Given the description of an element on the screen output the (x, y) to click on. 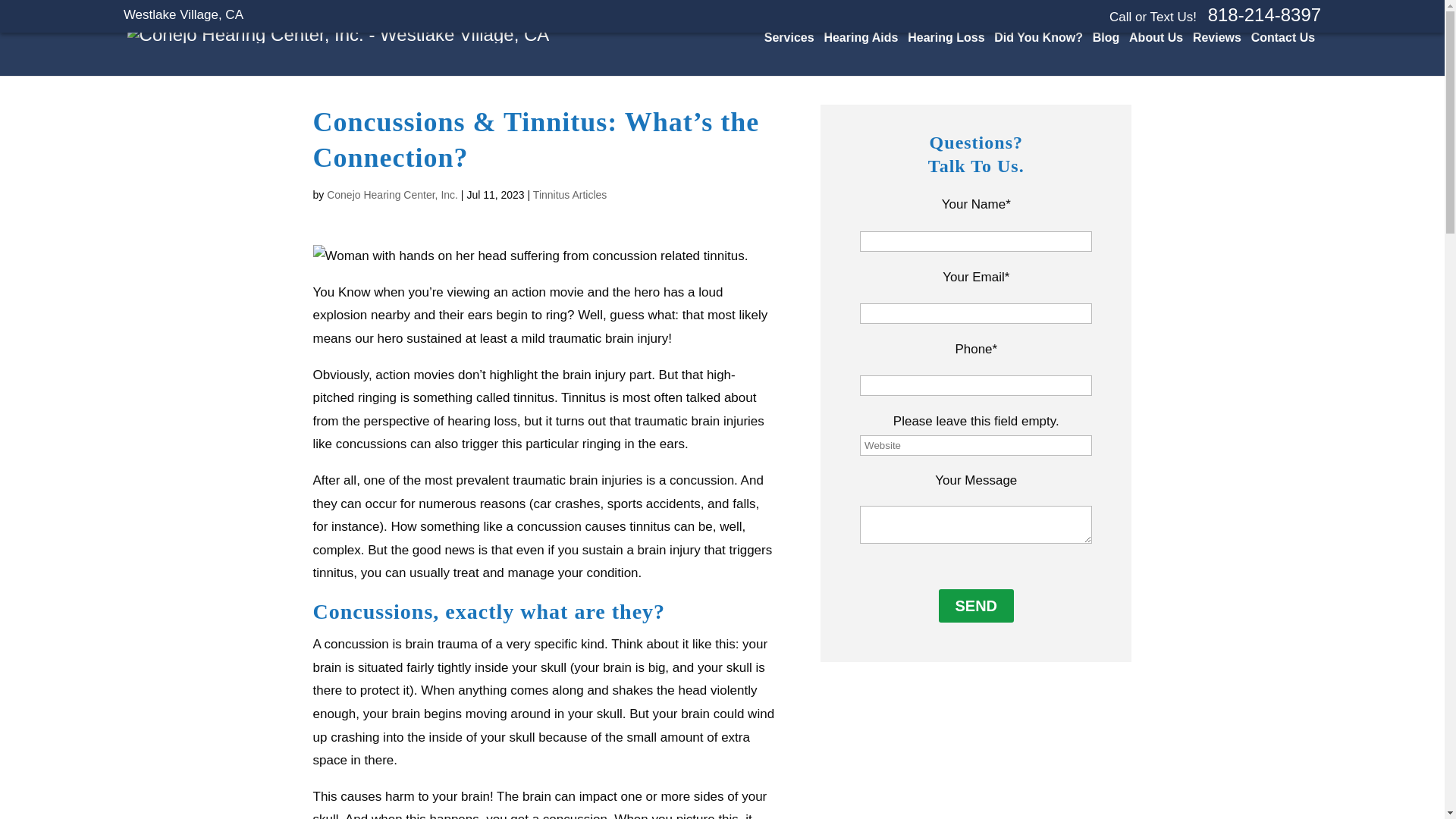
Blog (1106, 54)
Send (976, 605)
Conejo Hearing Center, Inc. (339, 34)
Hearing Aids (861, 44)
About Us (1155, 54)
818-214-8397 (1264, 14)
Did You Know? (1038, 44)
Reviews (1216, 54)
Westlake Village, CA (183, 14)
Hearing Loss (945, 44)
Posts by Conejo Hearing Center, Inc. (392, 194)
Contact Us (1282, 44)
Services (788, 44)
